Given the description of an element on the screen output the (x, y) to click on. 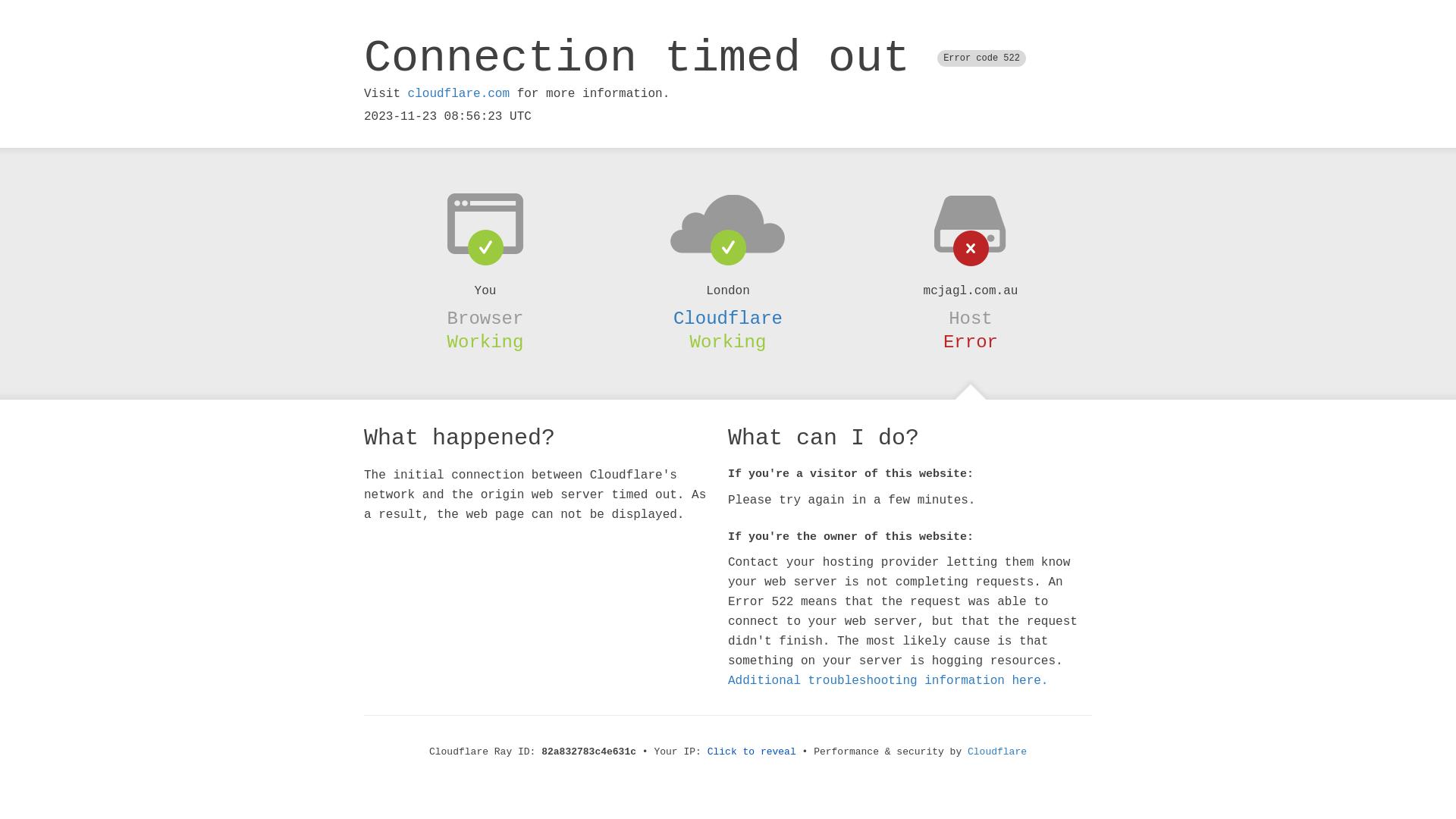
Cloudflare Element type: text (996, 751)
Cloudflare Element type: text (727, 318)
cloudflare.com Element type: text (458, 93)
Click to reveal Element type: text (751, 751)
Additional troubleshooting information here. Element type: text (888, 680)
